Given the description of an element on the screen output the (x, y) to click on. 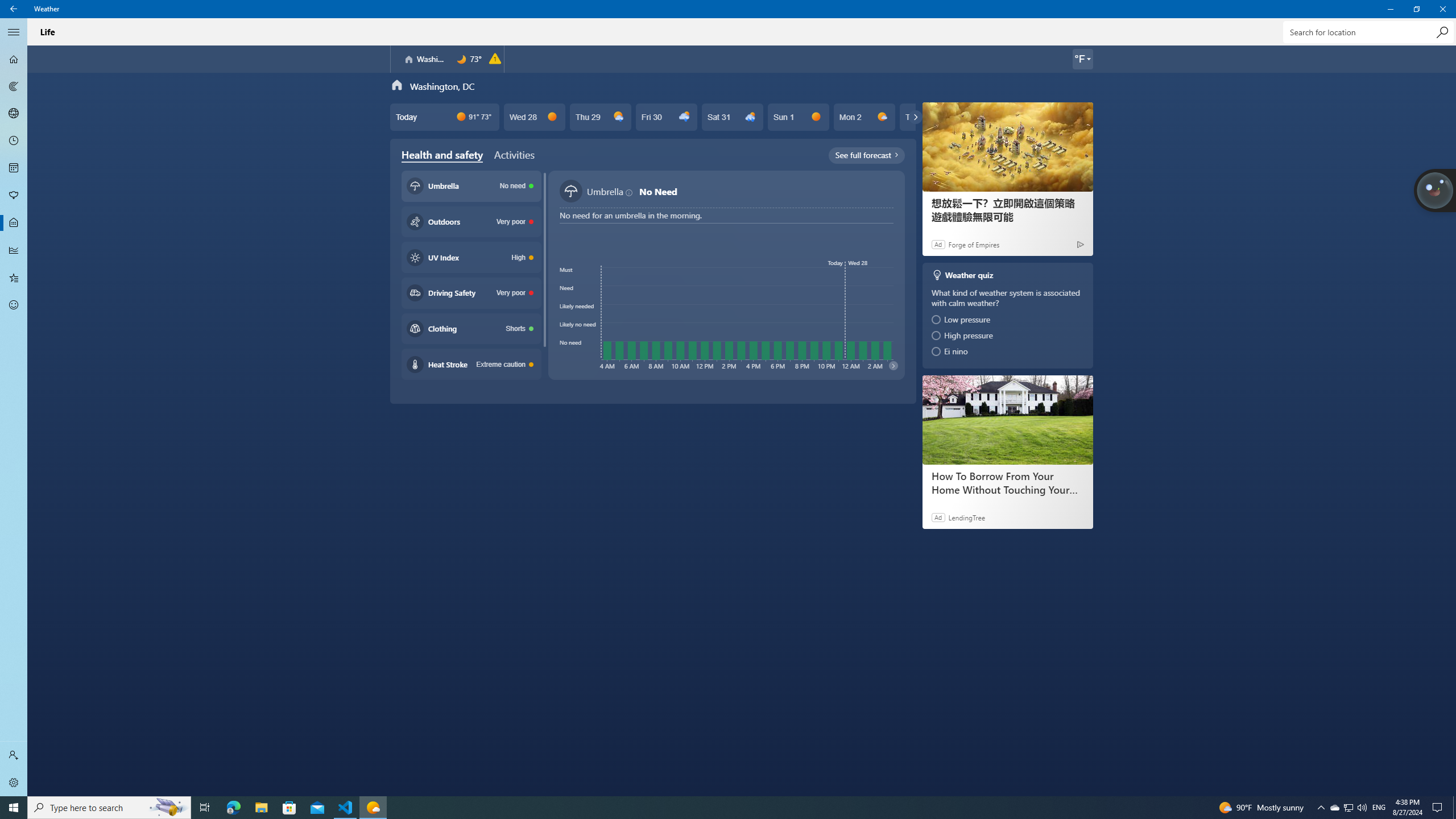
Life - Not Selected (13, 222)
Pollen - Not Selected (13, 195)
Monthly Forecast - Not Selected (13, 167)
Historical Weather - Not Selected (13, 249)
Forecast - Not Selected (13, 58)
Minimize Weather (1390, 9)
3D Maps - Not Selected (13, 113)
3D Maps - Not Selected (13, 113)
Search (1442, 31)
